Given the description of an element on the screen output the (x, y) to click on. 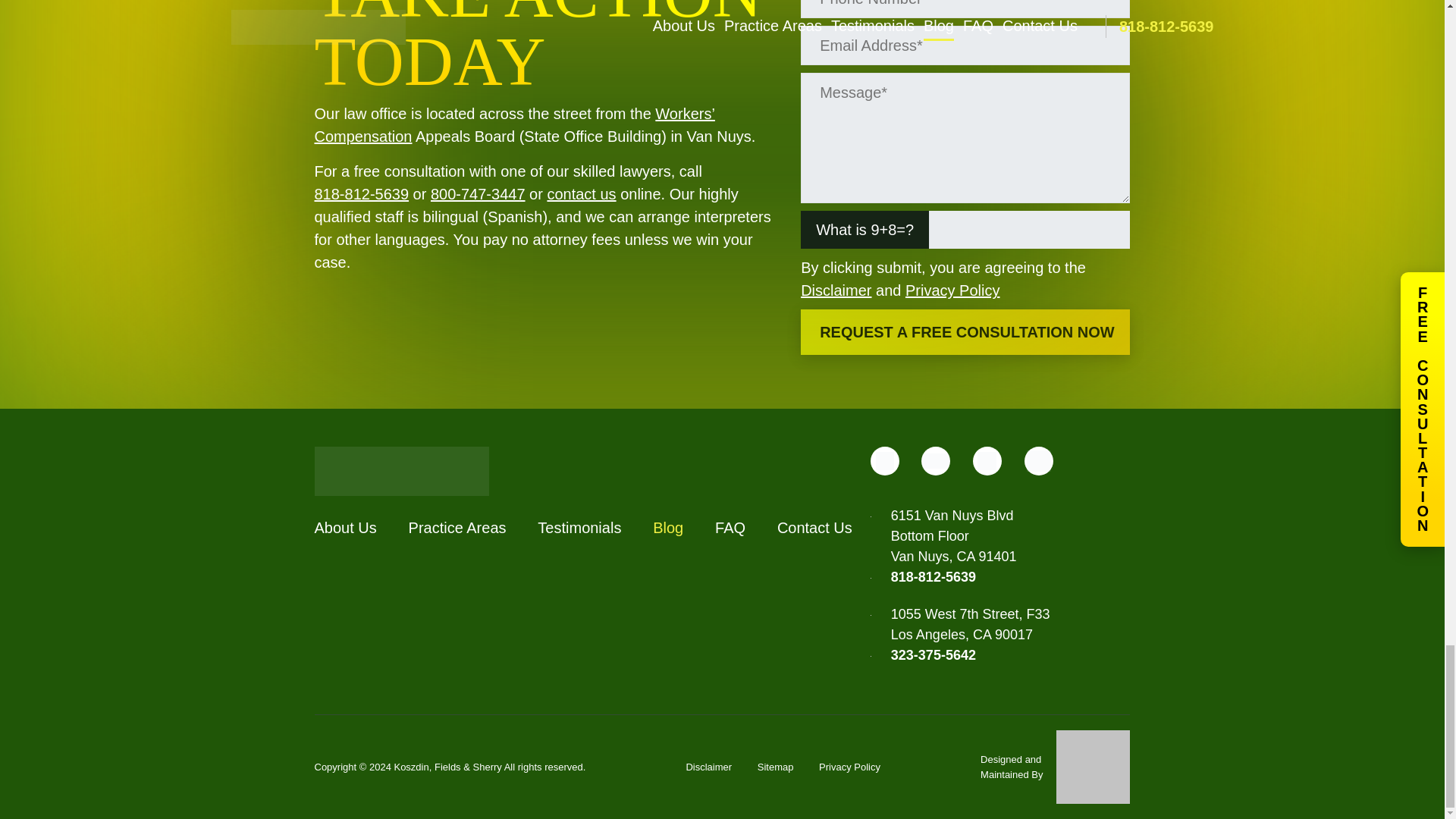
6151 Van Nuys Blvd (443, 617)
Logo (400, 471)
Request A FREE CONSULTATION NOW (964, 331)
1055 W 7th St f33 (721, 617)
Contact (581, 193)
